Given the description of an element on the screen output the (x, y) to click on. 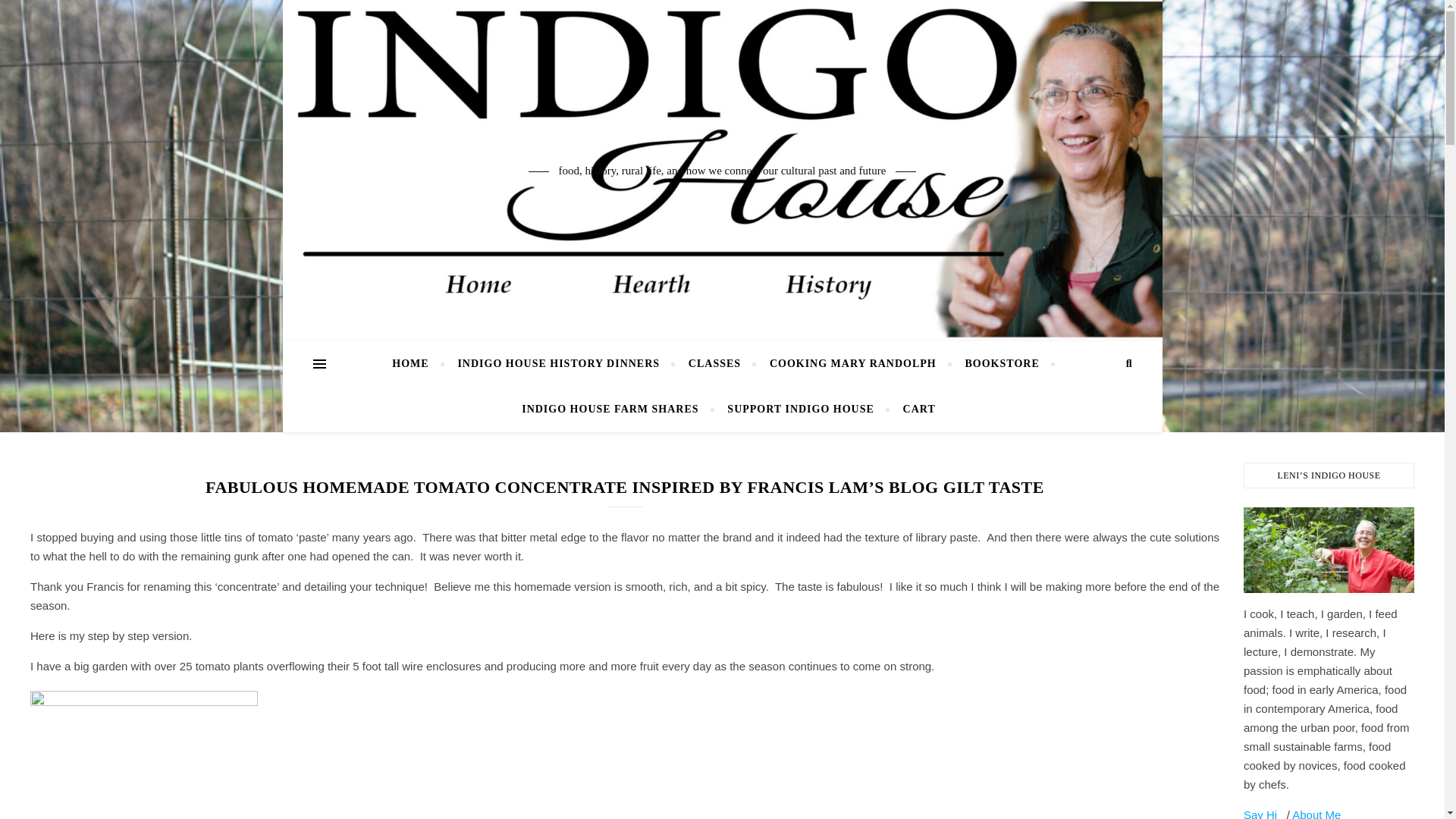
CLASSES (714, 363)
CART (912, 409)
SUPPORT INDIGO HOUSE (800, 409)
INDIGO HOUSE HISTORY DINNERS (558, 363)
BOOKSTORE (1002, 363)
INDIGO HOUSE FARM SHARES (609, 409)
COOKING MARY RANDOLPH (853, 363)
HOME (416, 363)
